Given the description of an element on the screen output the (x, y) to click on. 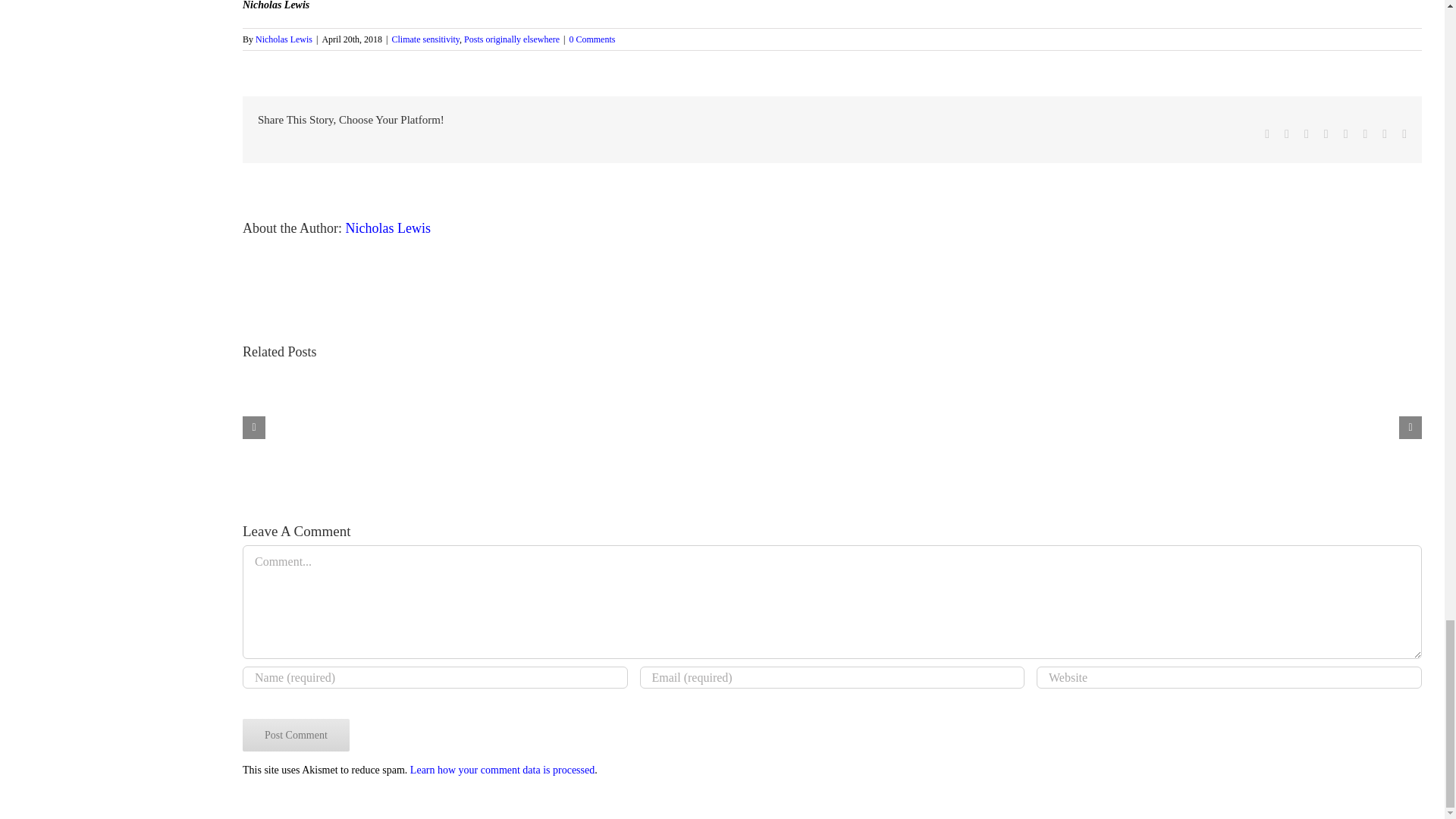
Posts by Nicholas Lewis (388, 227)
Nicholas Lewis (284, 39)
Nicholas Lewis (388, 227)
Posts originally elsewhere (511, 39)
Posts by Nicholas Lewis (284, 39)
0 Comments (591, 39)
Climate sensitivity (425, 39)
Post Comment (296, 735)
